Given the description of an element on the screen output the (x, y) to click on. 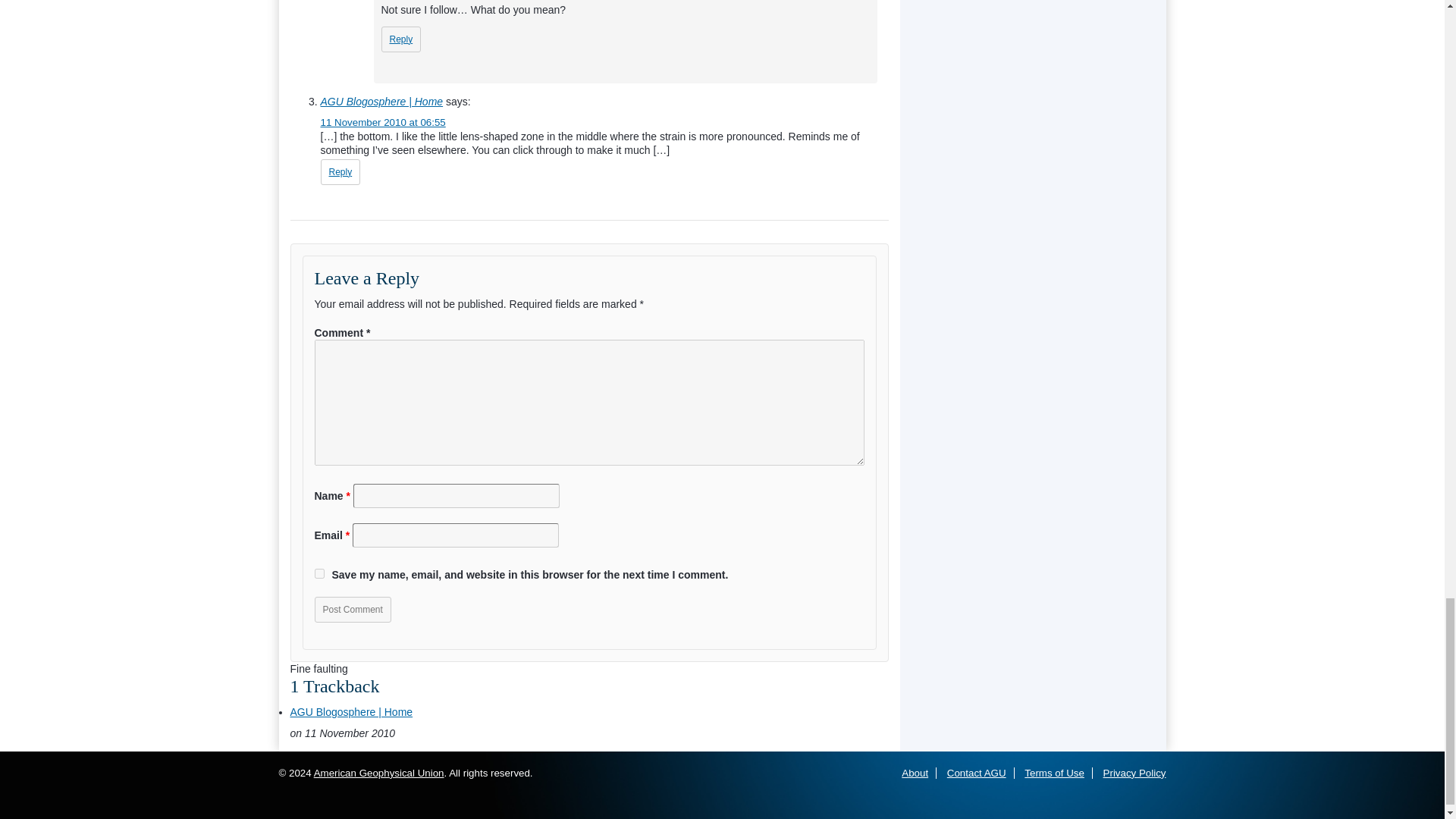
Post Comment (352, 609)
Reply (339, 171)
yes (318, 573)
Reply (400, 39)
11 November 2010 at 06:55 (382, 122)
Post Comment (352, 609)
